Given the description of an element on the screen output the (x, y) to click on. 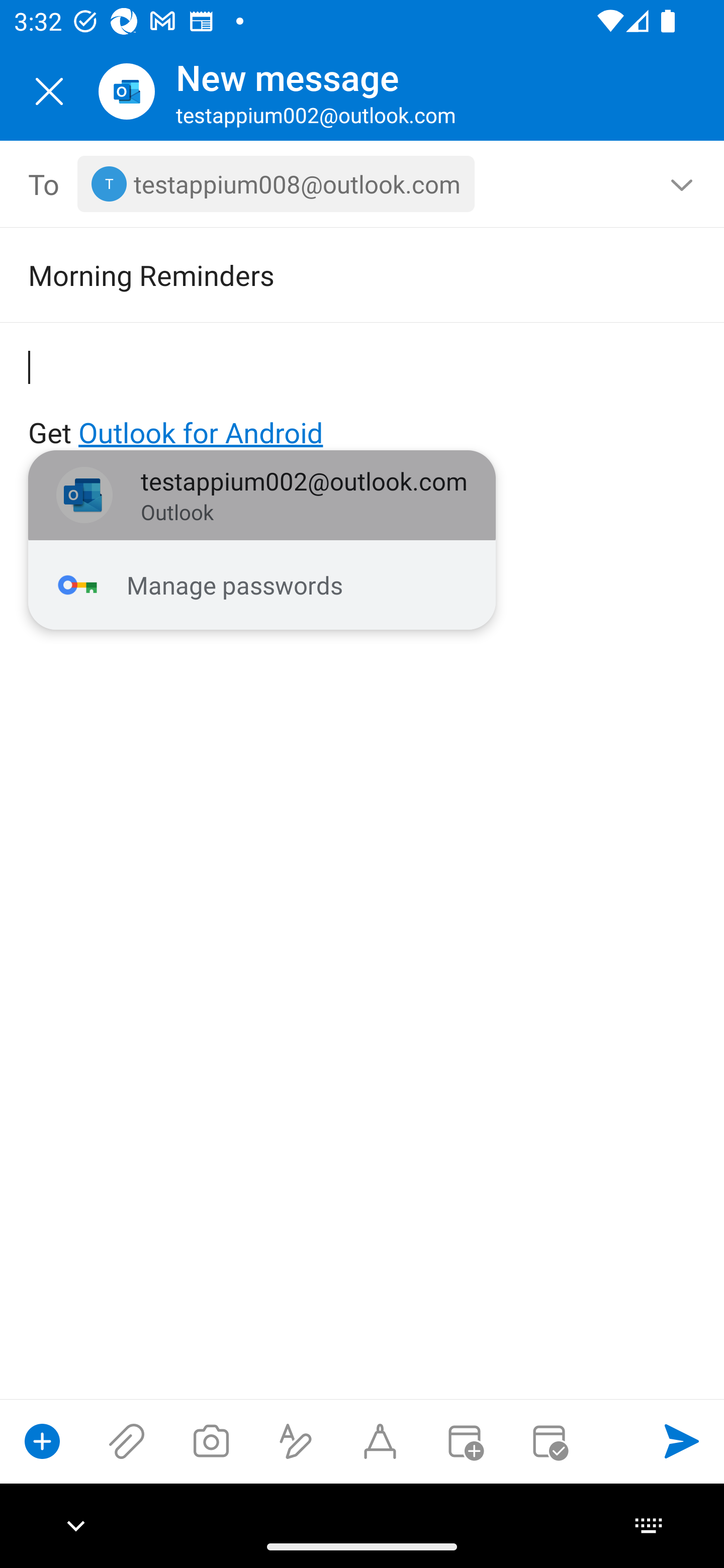
Outlook testappium002@outlook.com Outlook (261, 495)
Google Password Manager Manage passwords (261, 585)
